Given the description of an element on the screen output the (x, y) to click on. 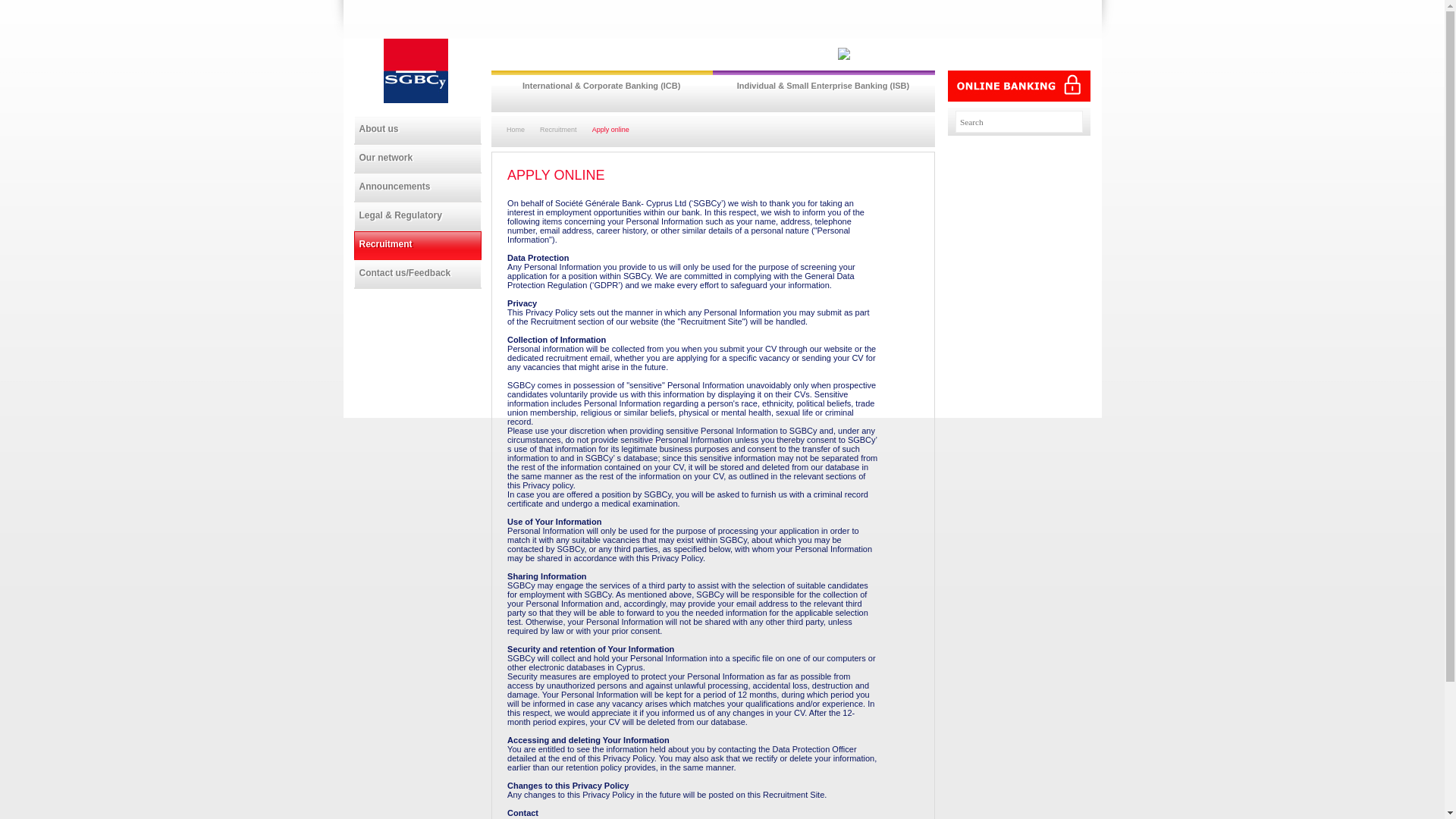
SGBCY (416, 244)
